Given the description of an element on the screen output the (x, y) to click on. 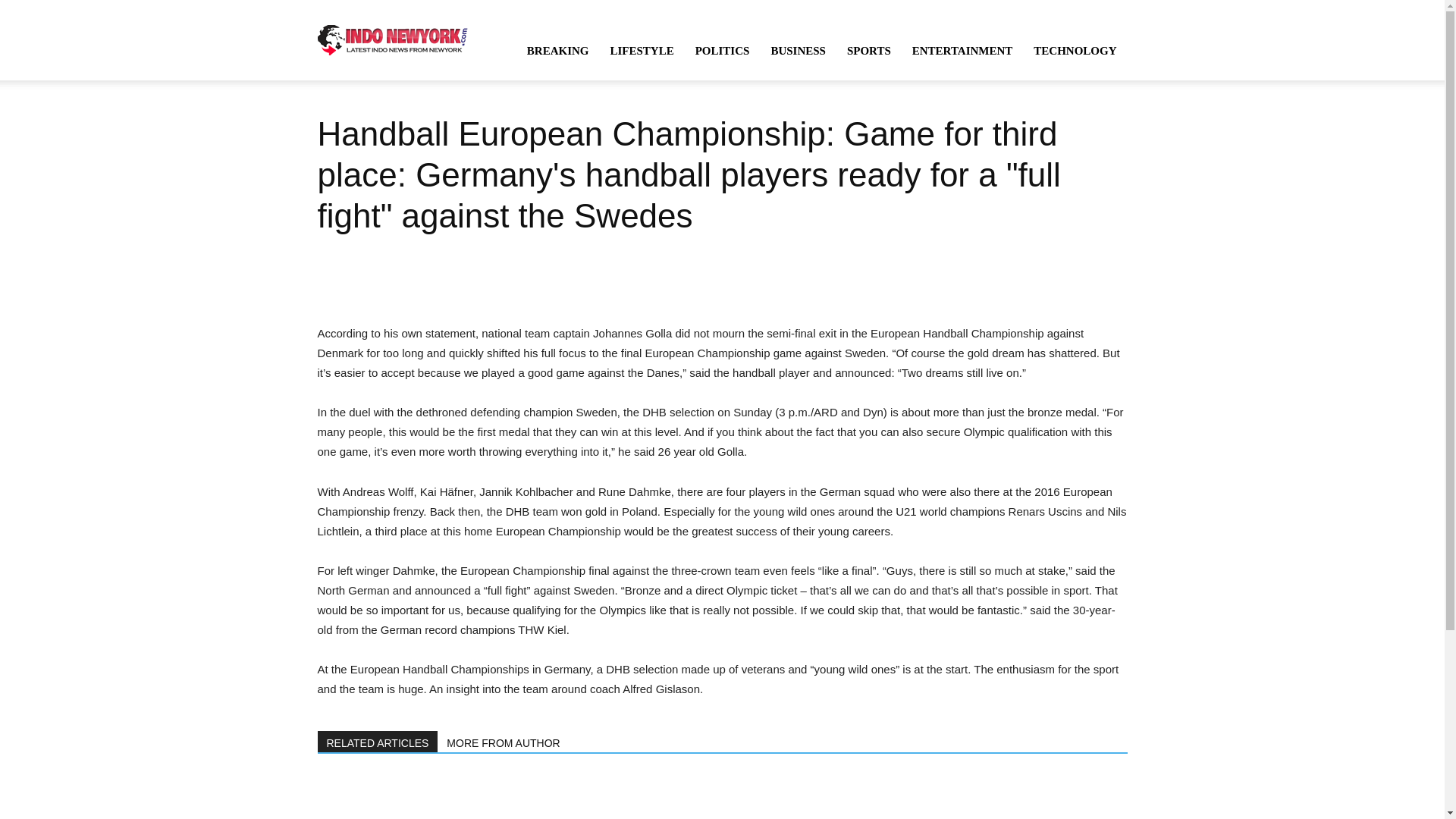
LIFESTYLE (641, 50)
BREAKING (557, 50)
ENTERTAINMENT (962, 50)
Indo Newyork (392, 39)
TECHNOLOGY (1074, 50)
BUSINESS (797, 50)
RELATED ARTICLES (377, 741)
POLITICS (722, 50)
SPORTS (868, 50)
MORE FROM AUTHOR (503, 741)
